Given the description of an element on the screen output the (x, y) to click on. 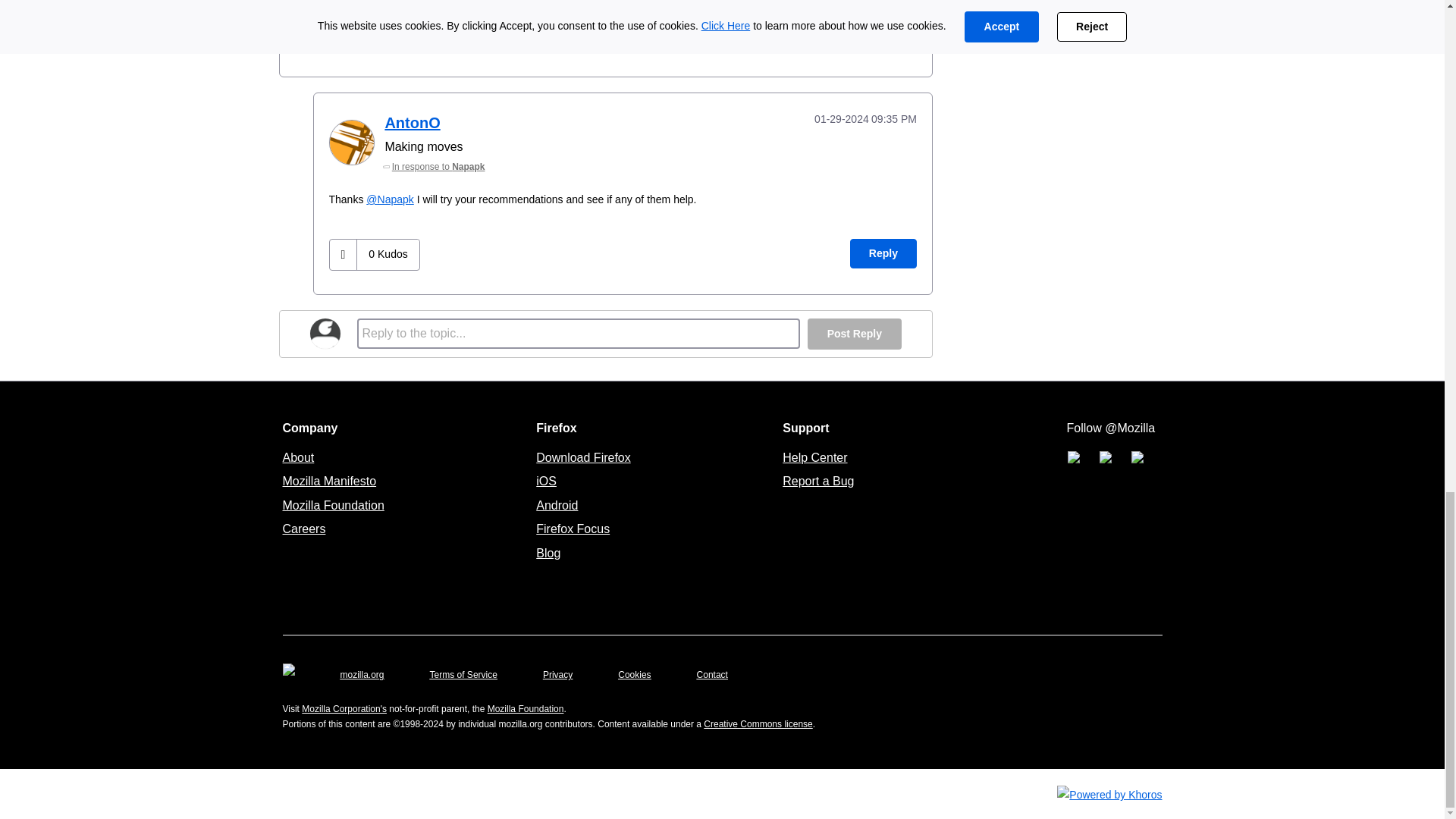
The total number of kudos this post has received. (353, 36)
AntonO (351, 142)
Click here to give kudos to this post. (309, 37)
